Given the description of an element on the screen output the (x, y) to click on. 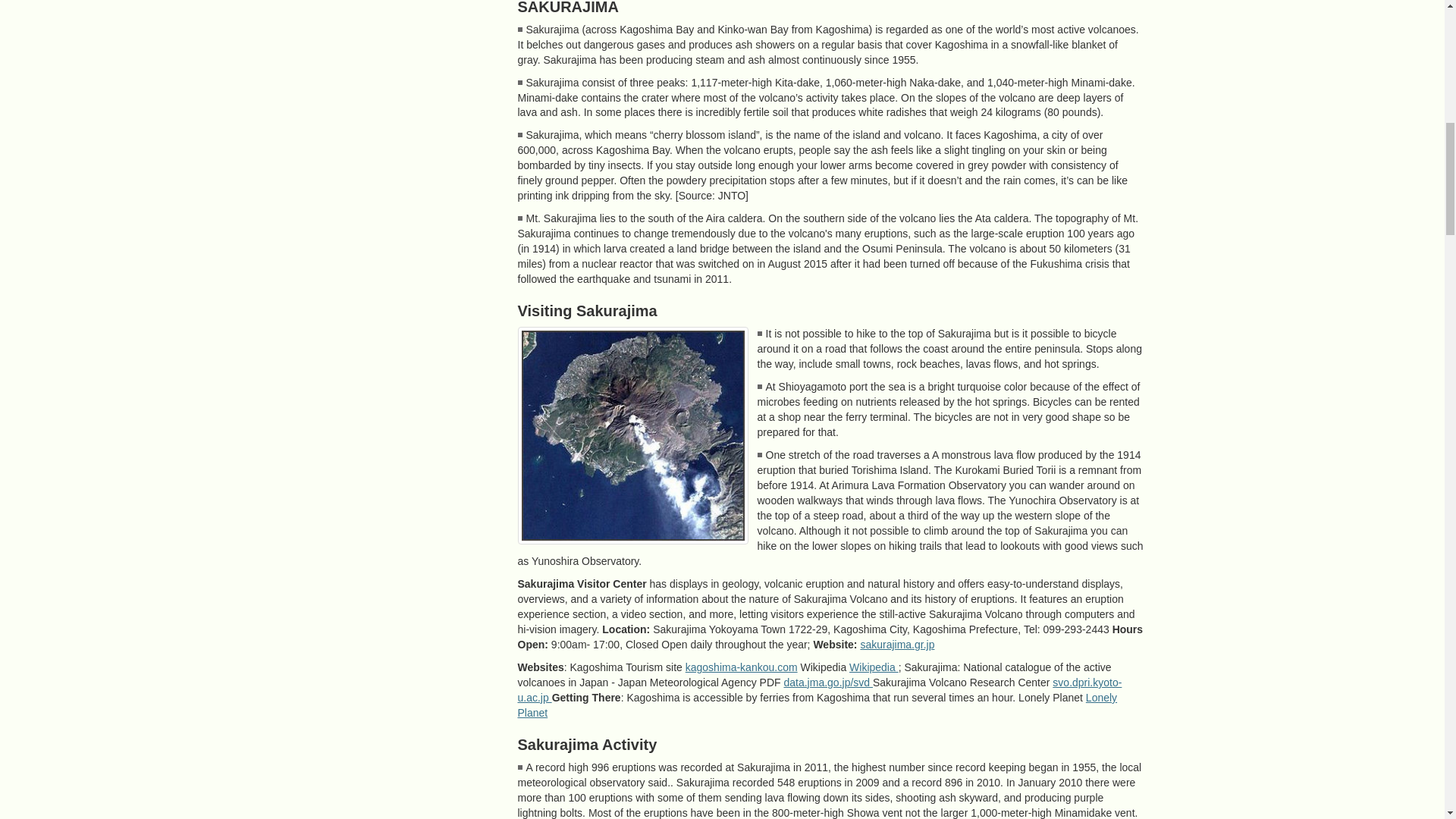
sakurajima.gr.jp (897, 644)
null (632, 435)
svo.dpri.kyoto-u.ac.jp (818, 689)
kagoshima-kankou.com (741, 666)
Lonely Planet (816, 705)
Wikipedia (873, 666)
